Given the description of an element on the screen output the (x, y) to click on. 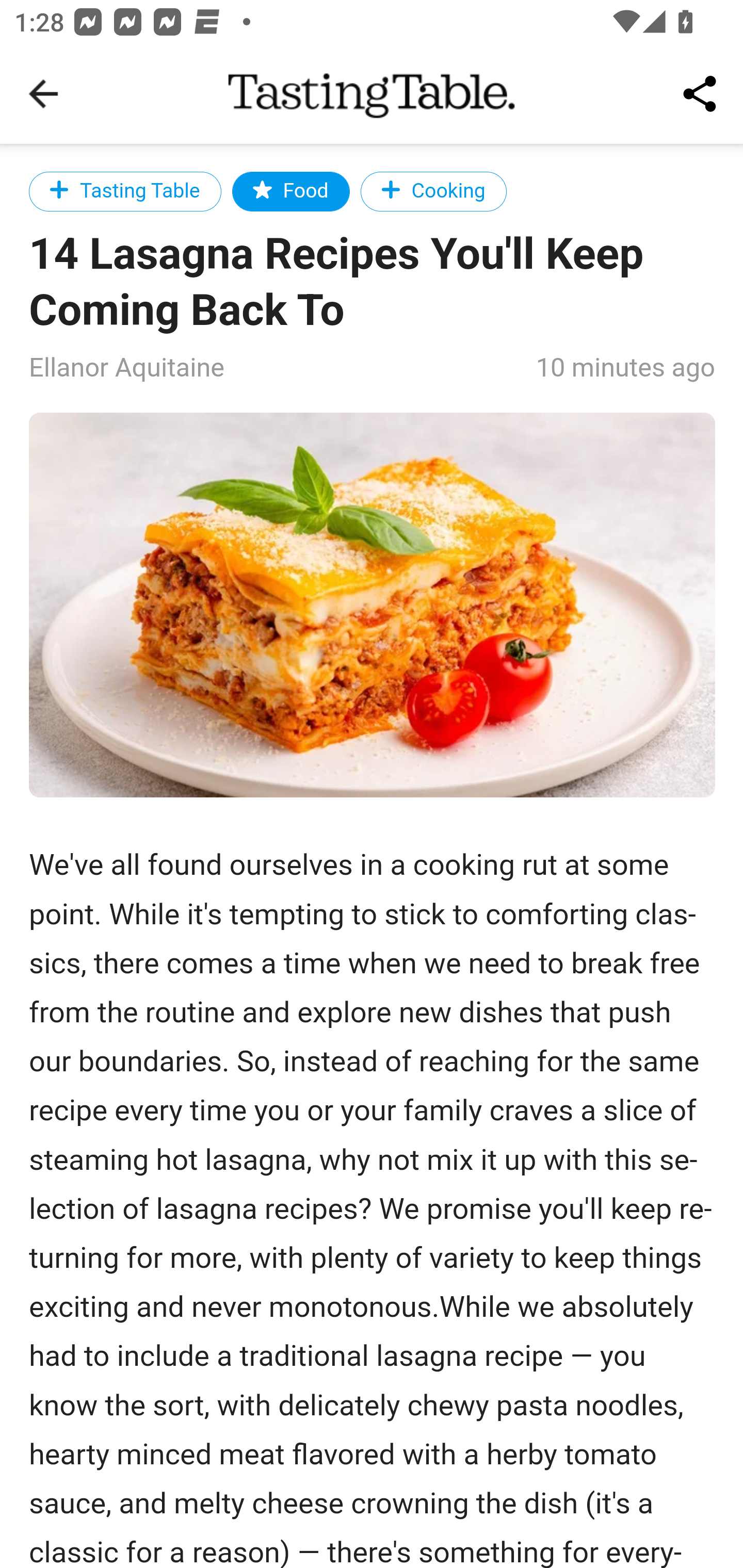
Tasting Table (125, 191)
Food (290, 191)
Cooking (432, 191)
